Given the description of an element on the screen output the (x, y) to click on. 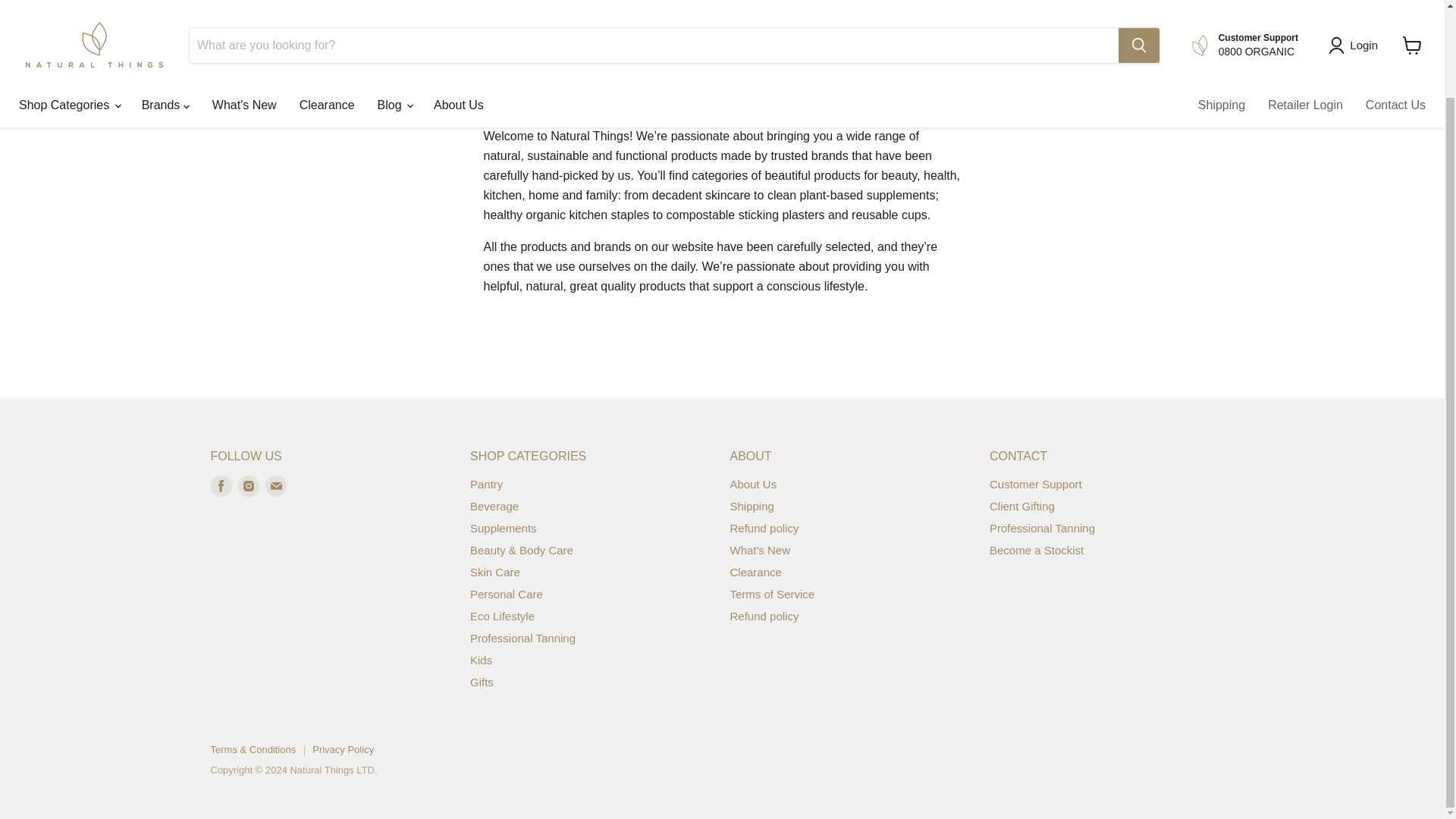
Email (275, 485)
Shop Categories (69, 10)
Facebook (221, 485)
Instagram (248, 485)
